Given the description of an element on the screen output the (x, y) to click on. 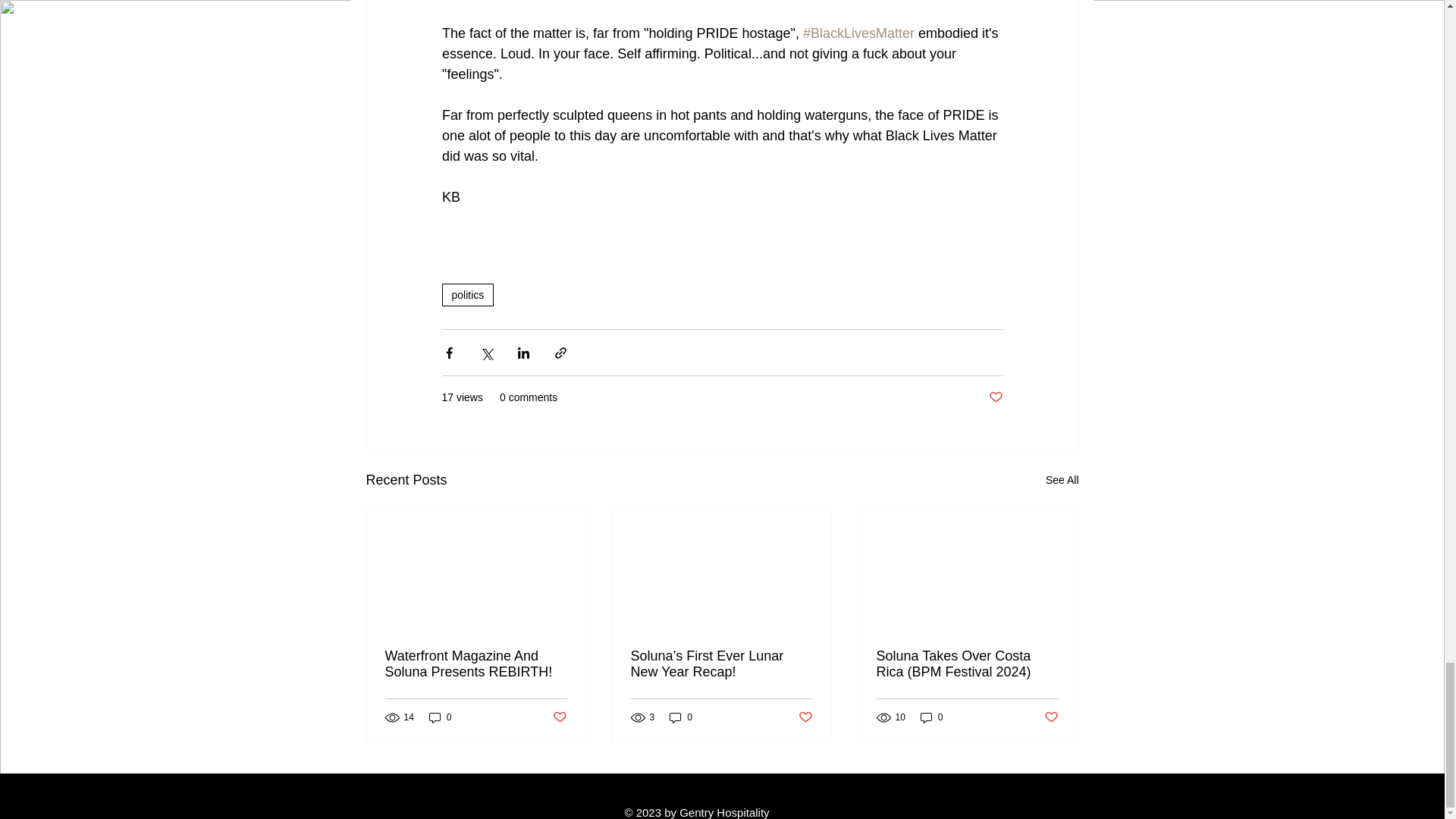
Waterfront Magazine And Soluna Presents REBIRTH! (476, 664)
0 (931, 717)
See All (1061, 480)
0 (440, 717)
Post not marked as liked (1050, 717)
politics (467, 294)
Post not marked as liked (558, 717)
0 (681, 717)
Post not marked as liked (804, 717)
Post not marked as liked (995, 397)
